Given the description of an element on the screen output the (x, y) to click on. 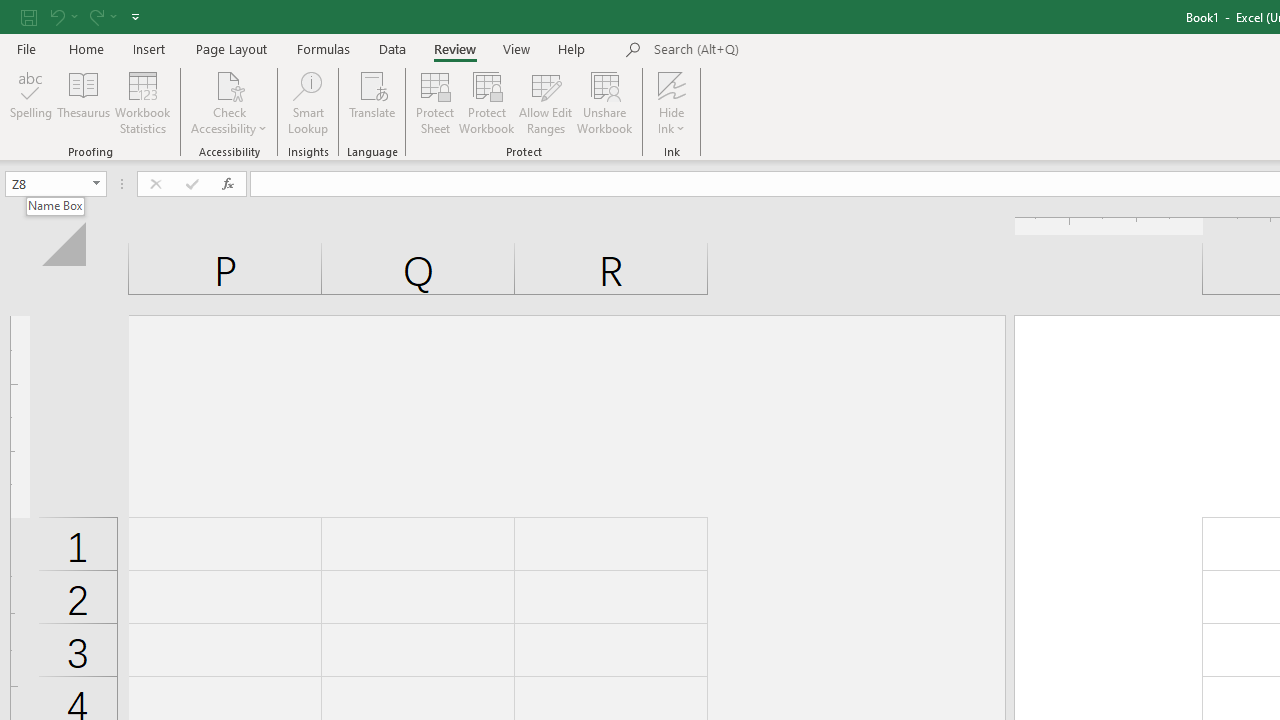
Protect Sheet... (434, 102)
Microsoft search (792, 49)
Allow Edit Ranges (545, 102)
